Given the description of an element on the screen output the (x, y) to click on. 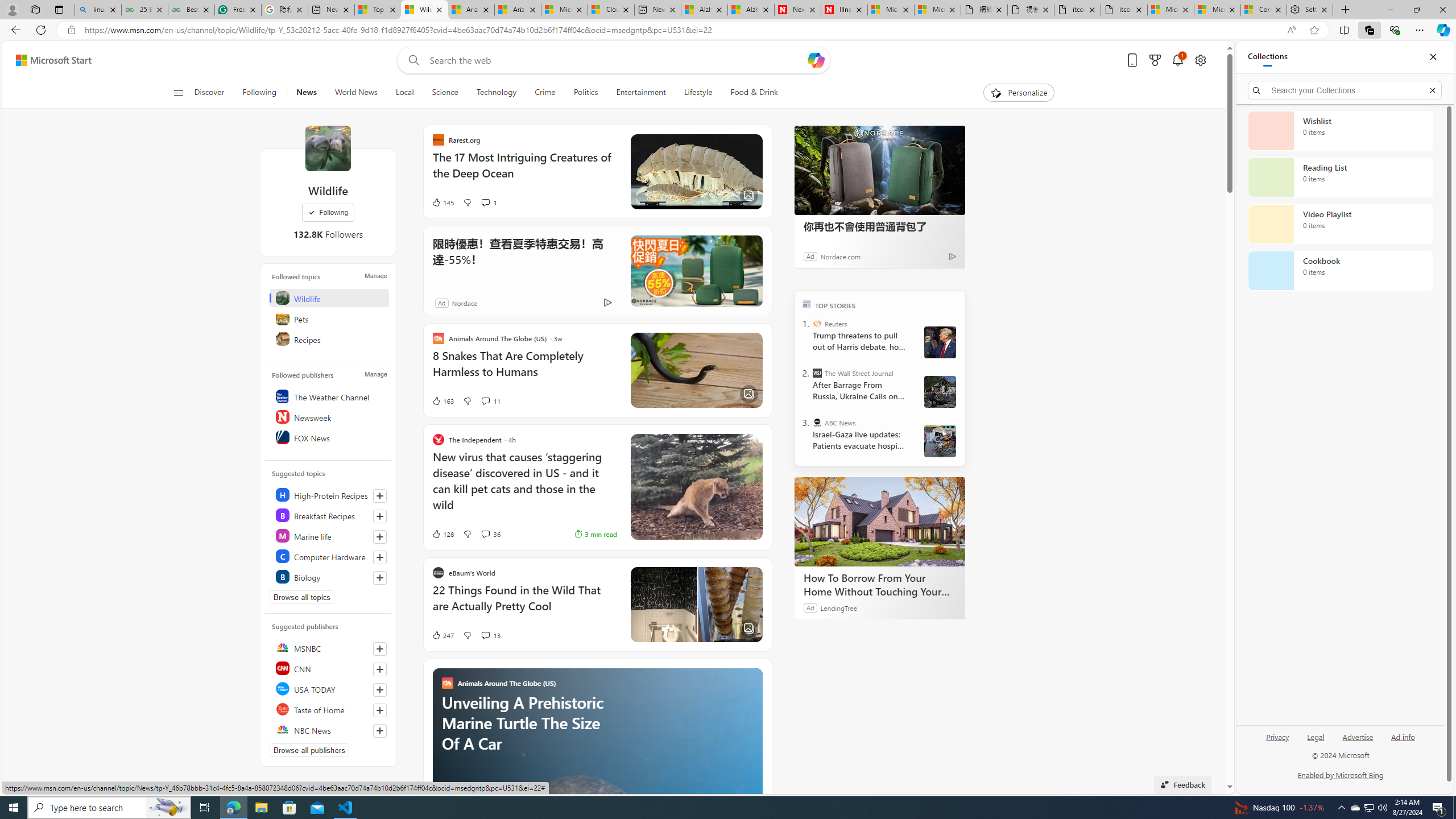
Taste of Home (328, 709)
Reading List collection, 0 items (1339, 177)
NBC News (328, 729)
